Given the description of an element on the screen output the (x, y) to click on. 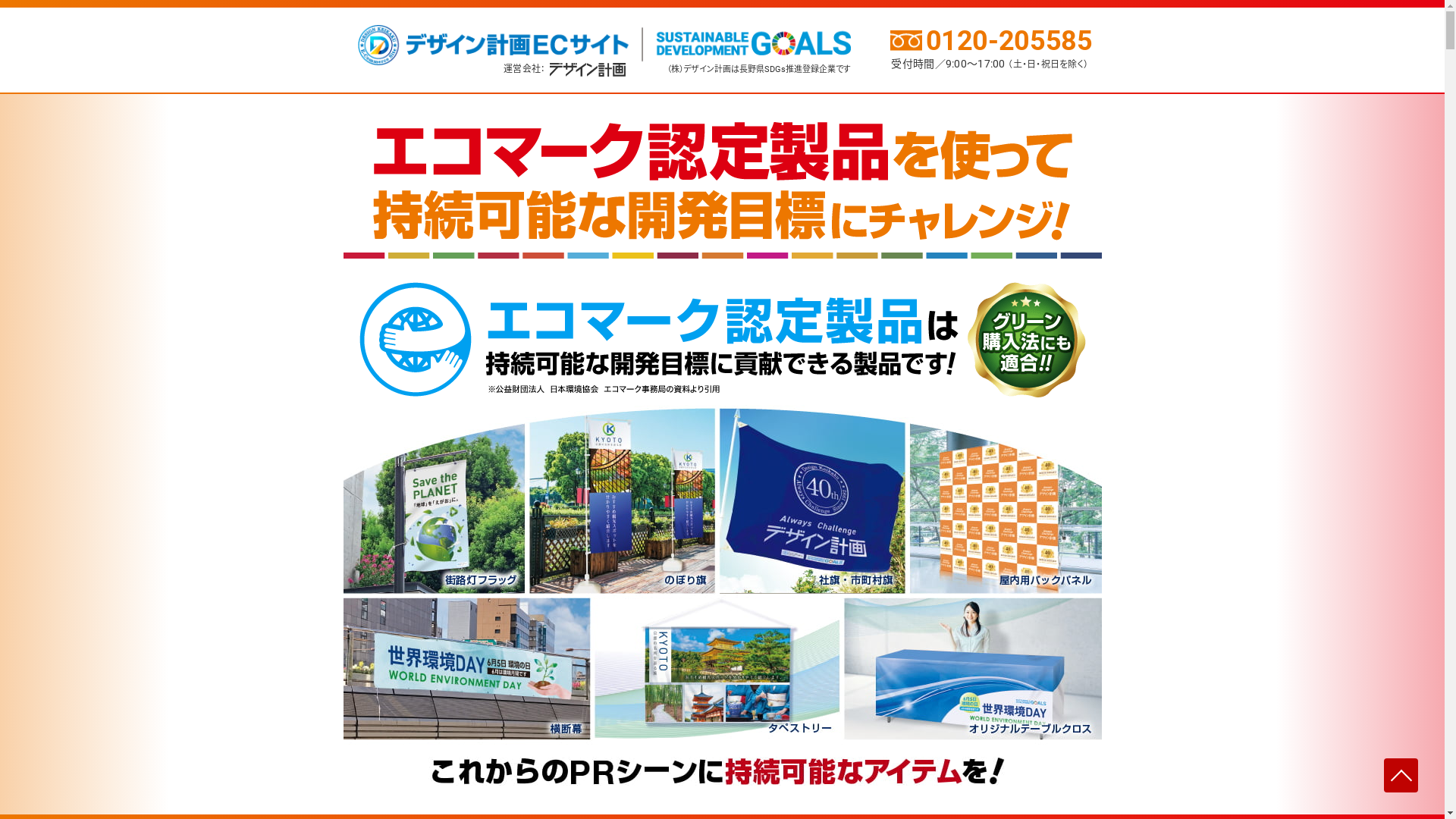
0120-205585 Element type: text (989, 38)
